Given the description of an element on the screen output the (x, y) to click on. 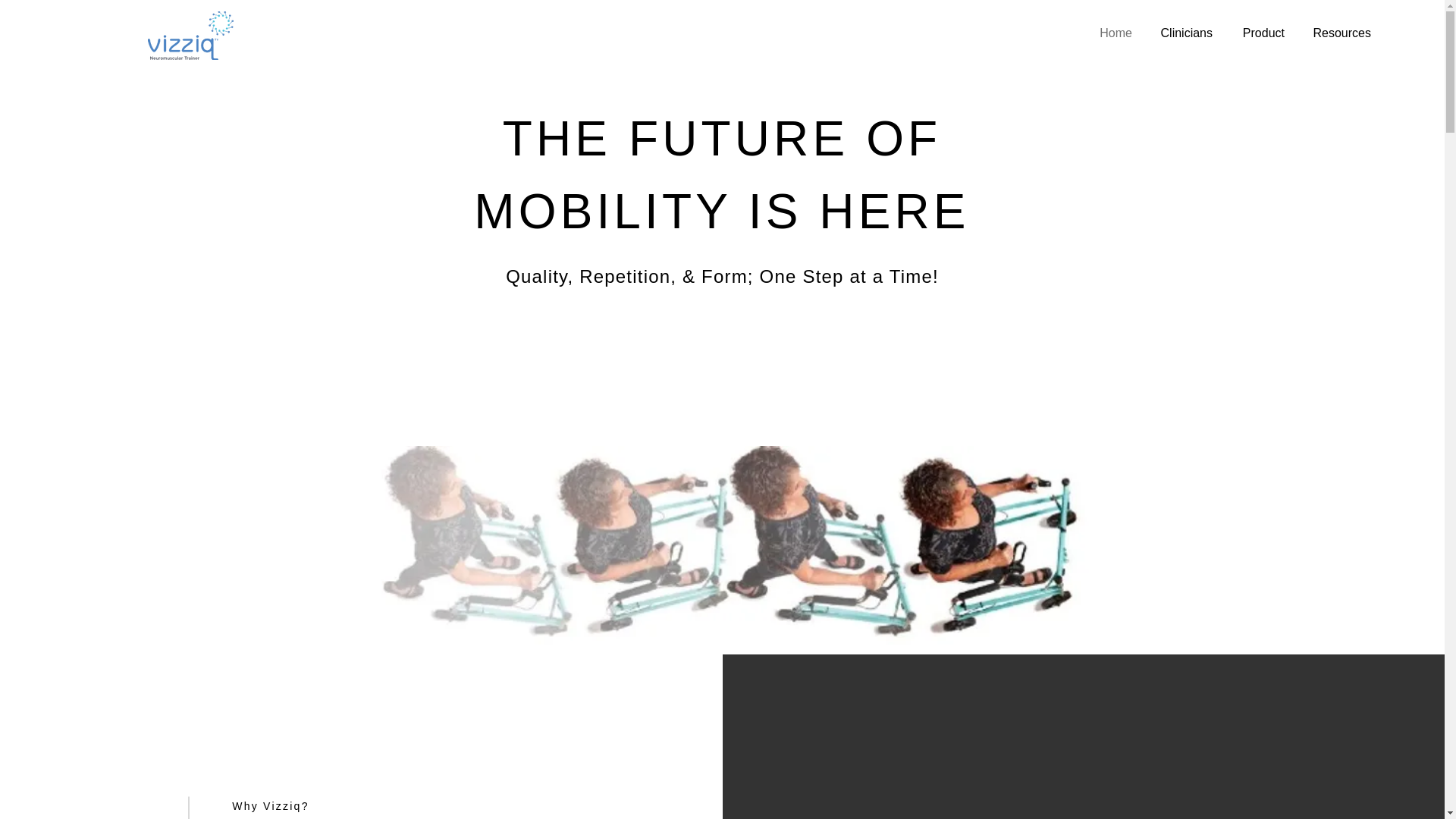
Home (1112, 33)
Clinicians (1183, 33)
Resources (1338, 33)
Product (1259, 33)
